Given the description of an element on the screen output the (x, y) to click on. 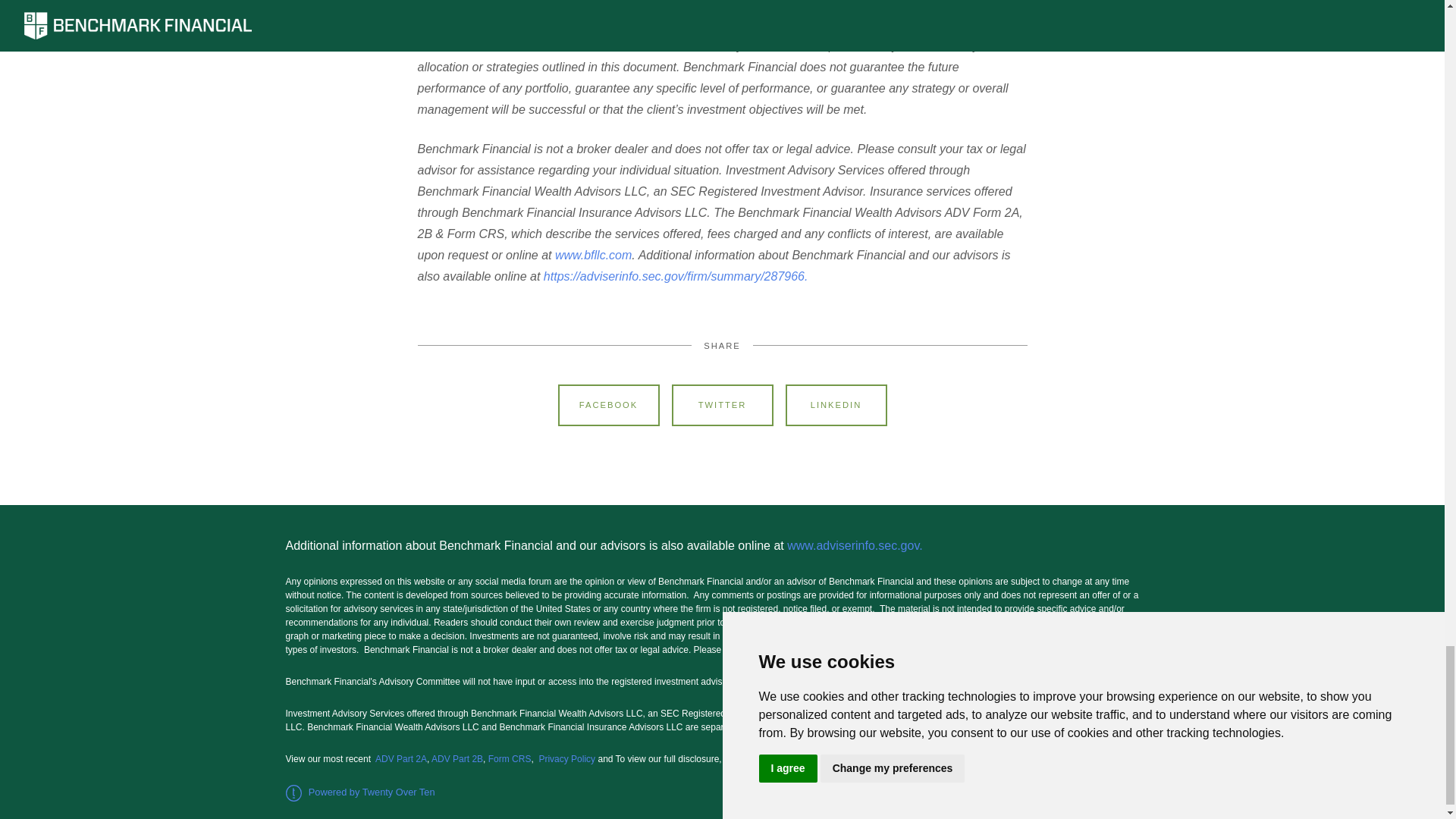
Form CRS (509, 758)
ADV Part 2B (456, 758)
HERE (785, 758)
www.adviserinfo.sec.gov.   (857, 545)
FACEBOOK (608, 405)
www.bfllc.com (592, 254)
LINKEDIN (836, 405)
Powered by Twenty Over Ten (359, 791)
TWITTER (722, 405)
Privacy Policy (566, 758)
ADV Part 2A (400, 758)
